Given the description of an element on the screen output the (x, y) to click on. 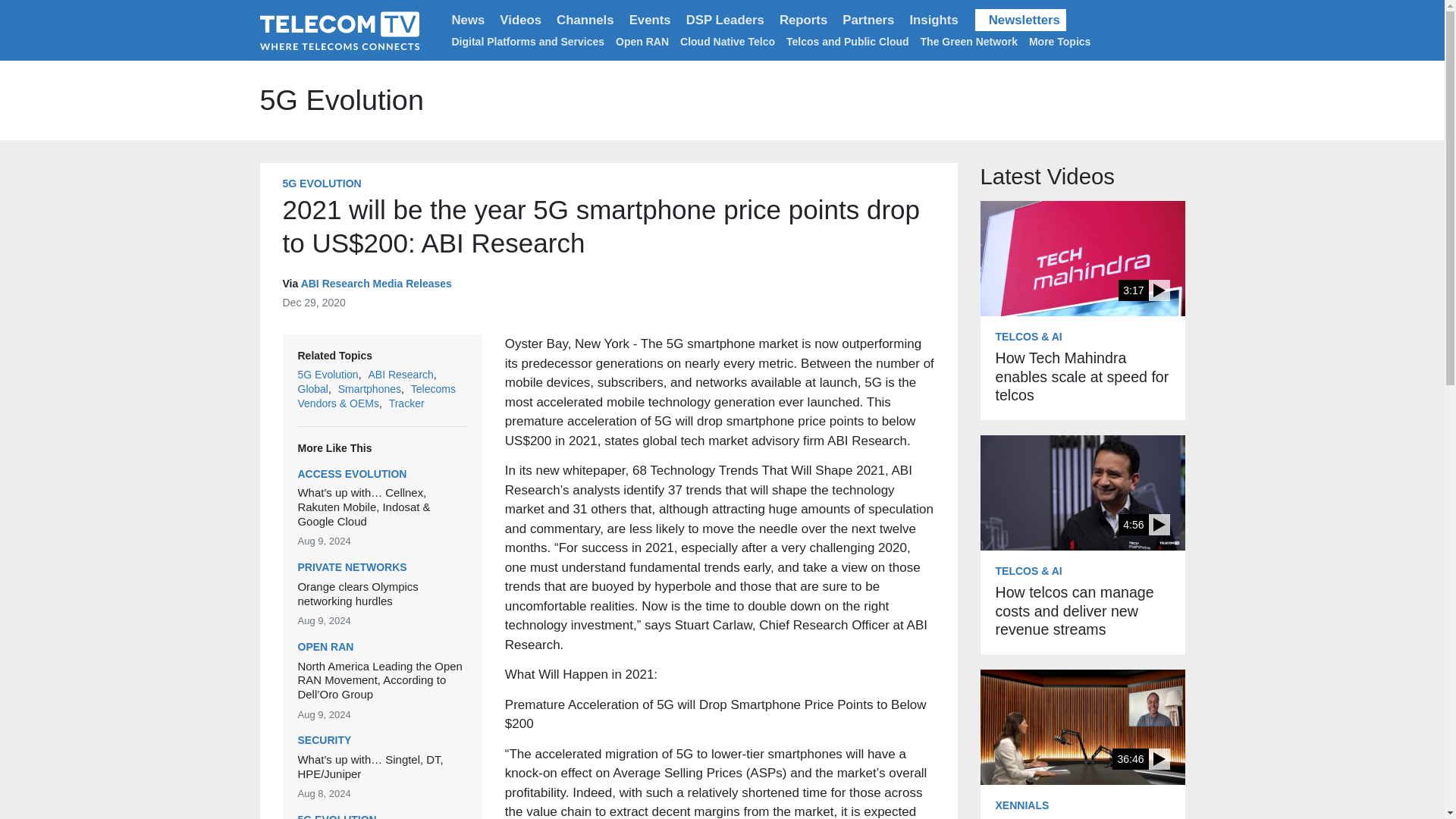
Videos (520, 20)
Channels (585, 20)
Newsletters (1020, 20)
Partners (867, 20)
News (468, 20)
Digital Platforms and Services (528, 41)
The Green Network (968, 41)
DSP Leaders (724, 20)
Open RAN (641, 41)
Insights (932, 20)
